Given the description of an element on the screen output the (x, y) to click on. 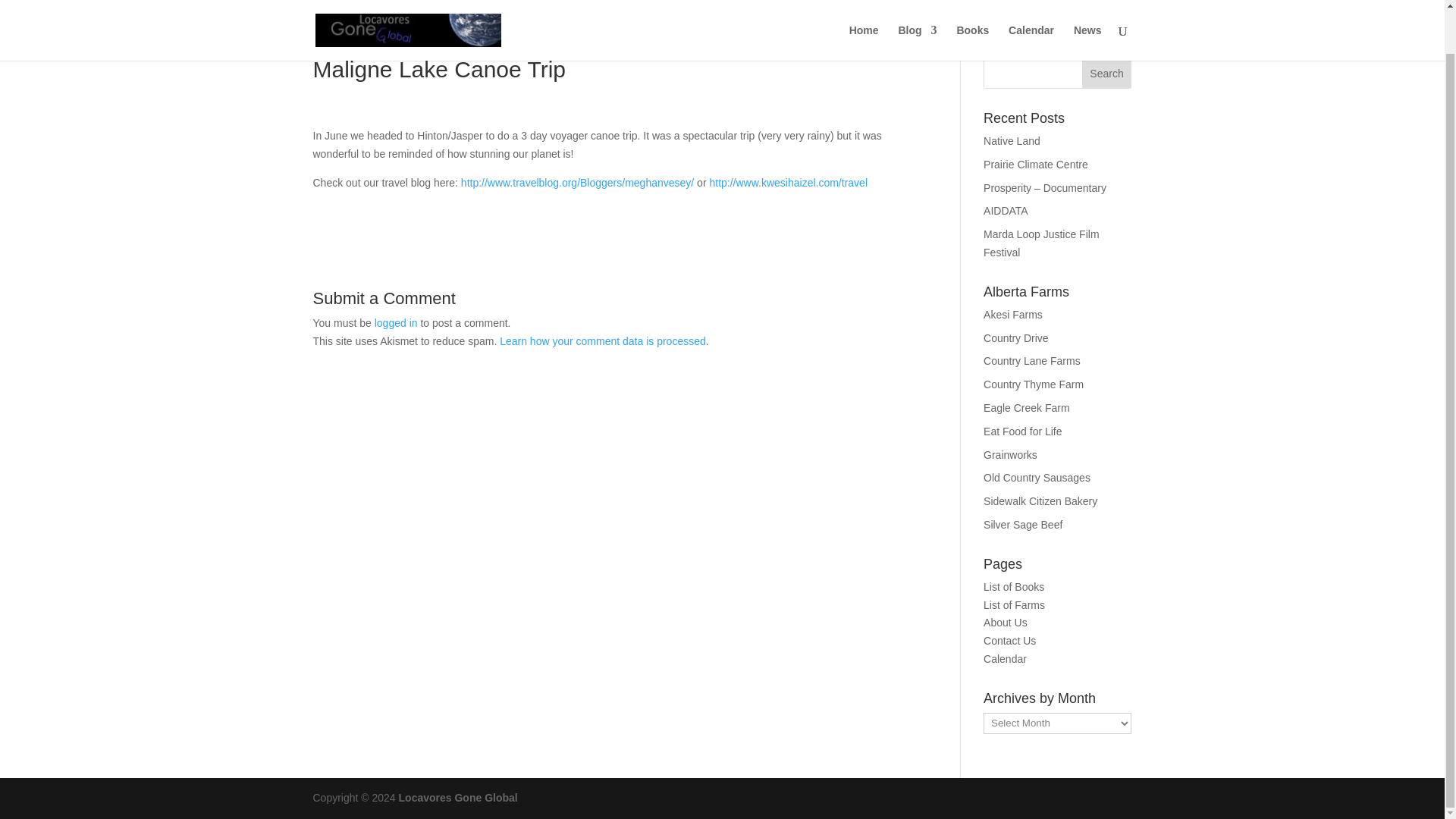
Books (972, 7)
Calendar (1031, 7)
Search (1106, 73)
Search (1106, 73)
Akesi Farms (1013, 314)
Learn how your comment data is processed (602, 340)
Prairie Climate Centre (1035, 164)
logged in (395, 322)
Home (863, 7)
News (1088, 7)
Marda Loop Justice Film Festival (1041, 243)
Country Drive (1016, 337)
AIDDATA (1005, 210)
Native Land (1012, 141)
Local farm near Bowden (1027, 408)
